Given the description of an element on the screen output the (x, y) to click on. 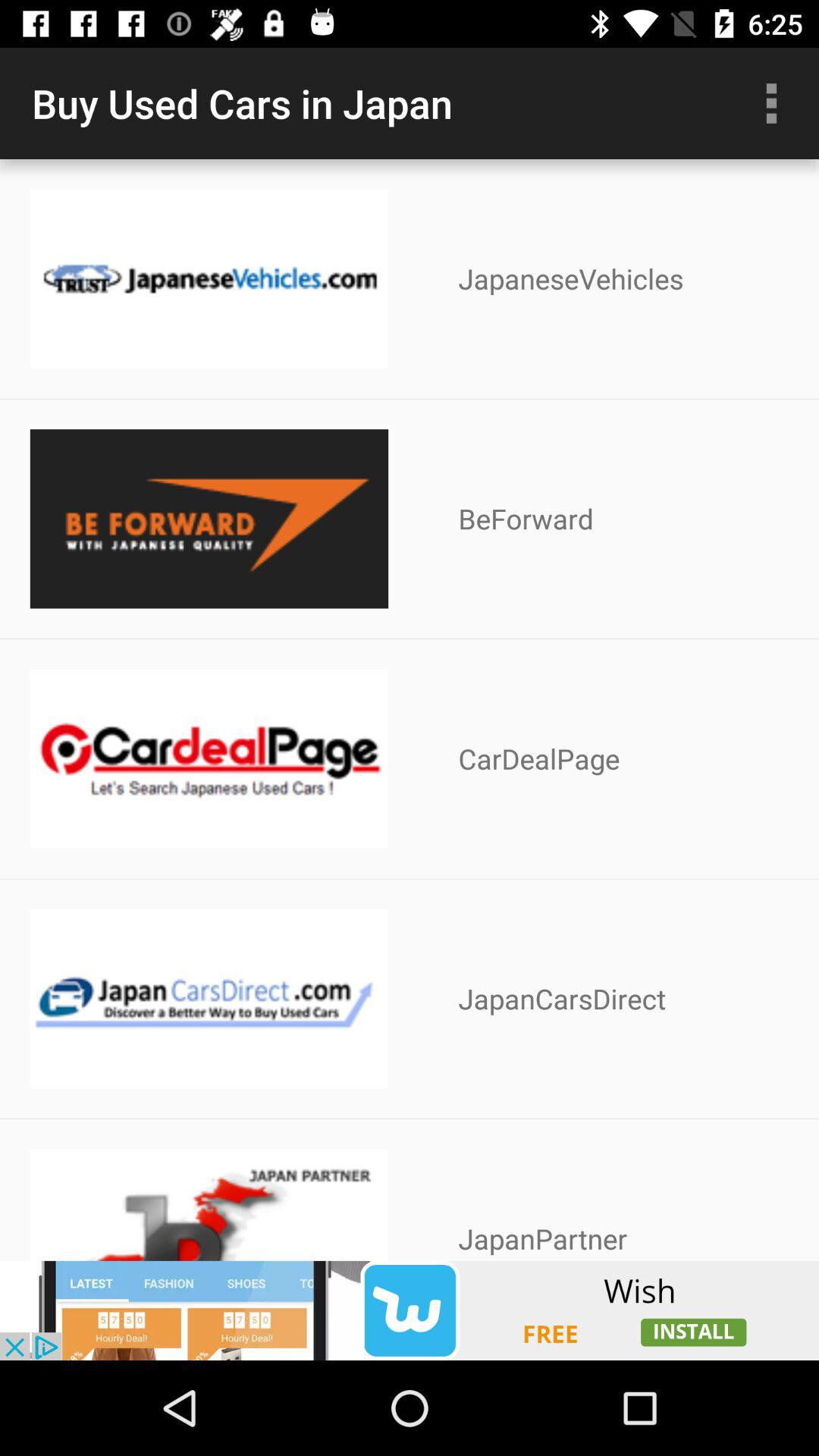
menu button (771, 103)
